Given the description of an element on the screen output the (x, y) to click on. 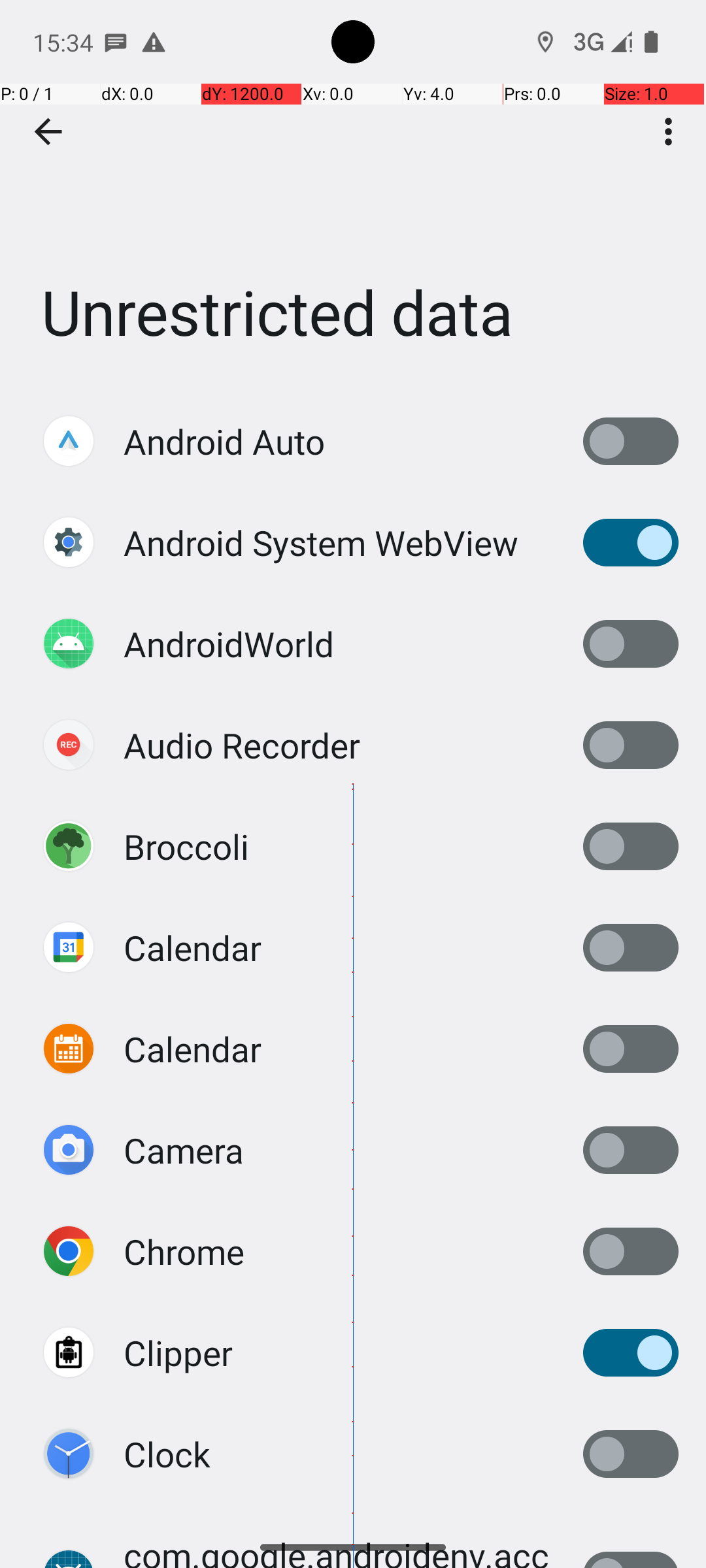
Unrestricted data Element type: android.widget.FrameLayout (353, 195)
Android Auto Element type: android.widget.TextView (223, 441)
Android System WebView Element type: android.widget.TextView (320, 542)
AndroidWorld Element type: android.widget.TextView (228, 643)
Camera Element type: android.widget.TextView (183, 1150)
Clipper Element type: android.widget.TextView (177, 1352)
